Given the description of an element on the screen output the (x, y) to click on. 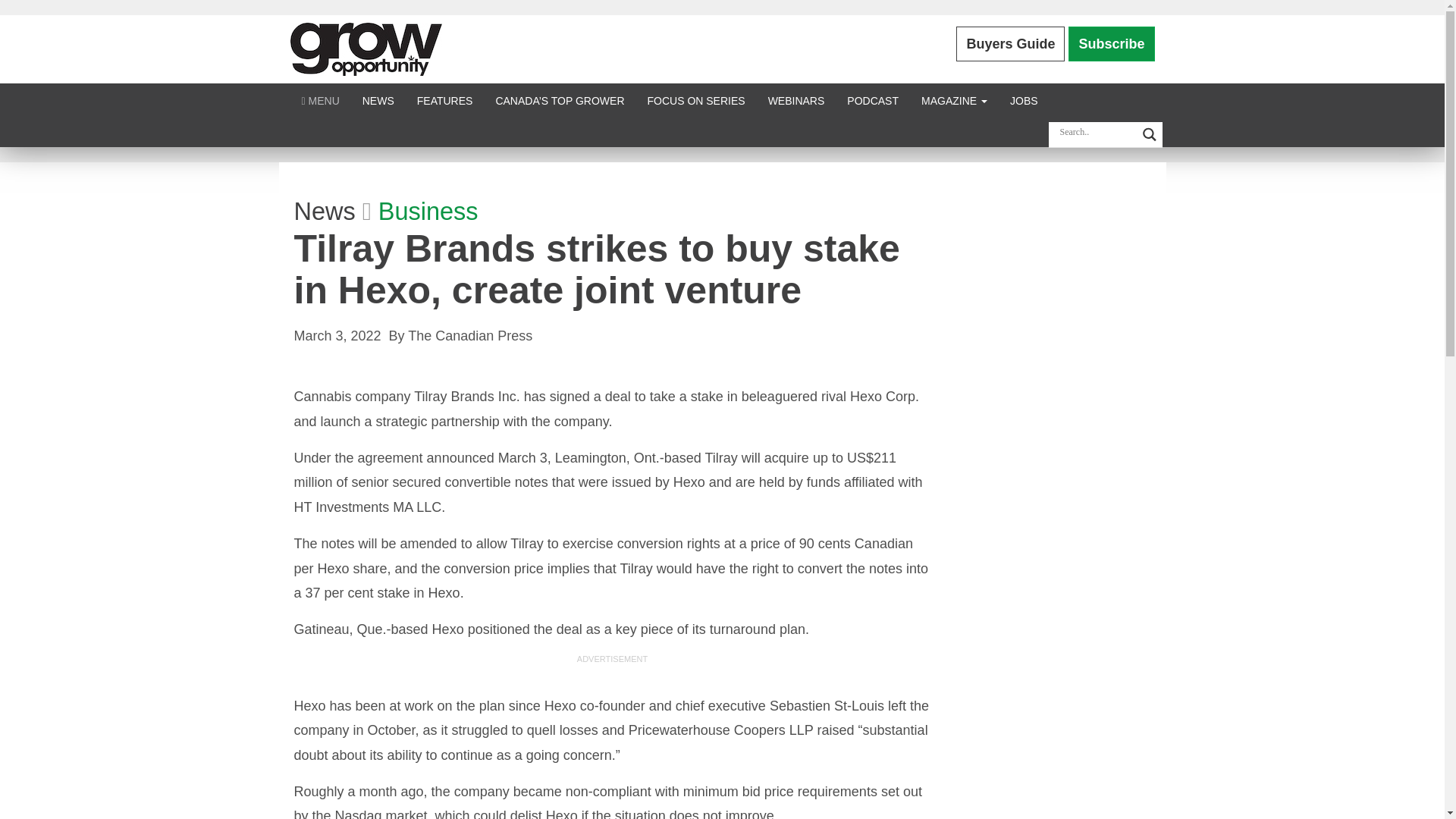
PODCAST (872, 100)
WEBINARS (796, 100)
Grow Opportunity (365, 48)
Buyers Guide (1010, 43)
Buyers Guide (1010, 43)
NEWS (378, 100)
FOCUS ON SERIES (694, 100)
Subscribe (1111, 43)
JOBS (1023, 100)
Click to show site navigation (319, 100)
FEATURES (445, 100)
Subscribe (1111, 43)
MAGAZINE (954, 100)
MENU (319, 100)
